Given the description of an element on the screen output the (x, y) to click on. 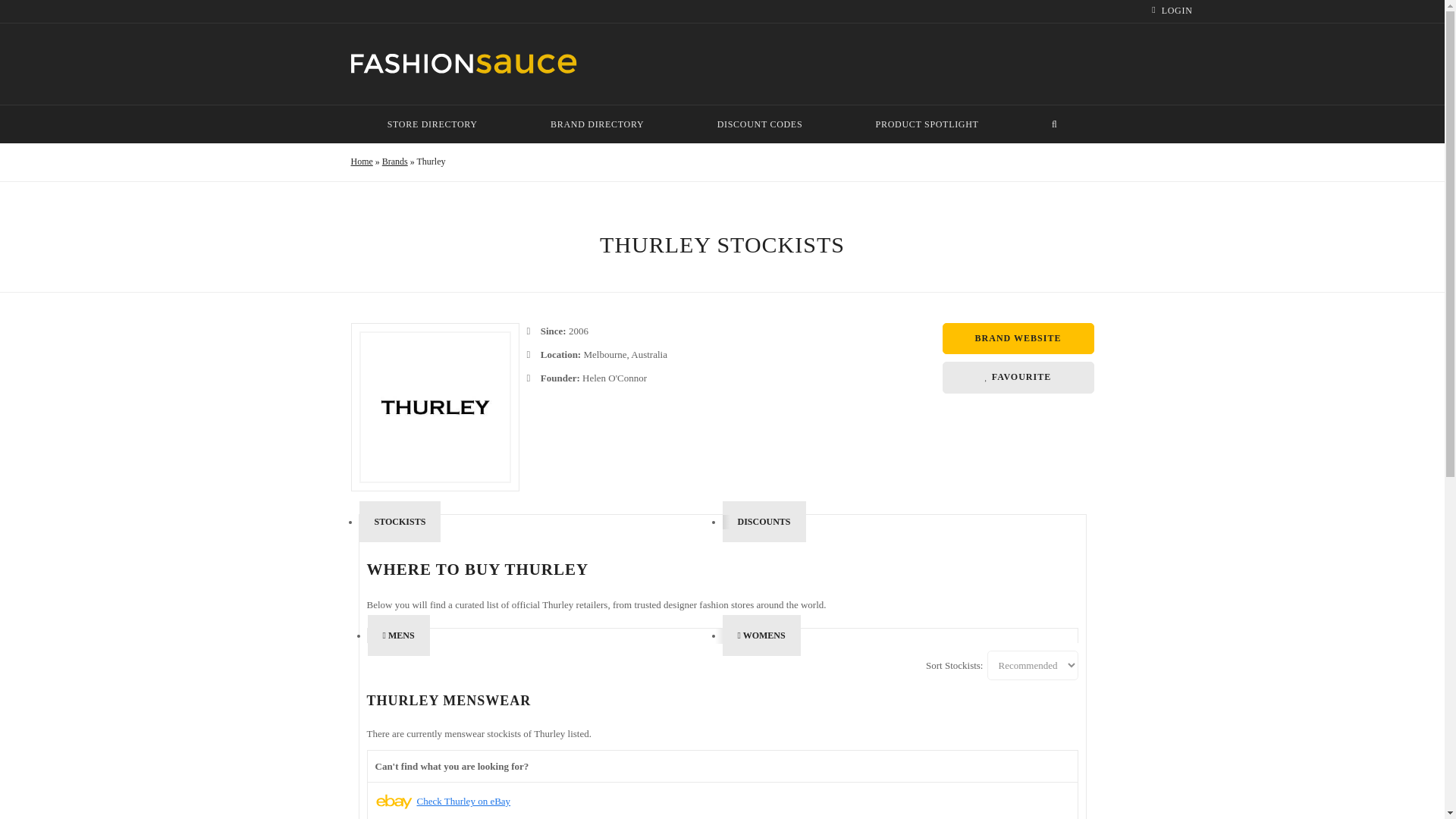
PRODUCT SPOTLIGHT (926, 124)
MENS (397, 635)
DISCOUNT CODES (760, 124)
Home (361, 161)
FAVOURITE (1017, 377)
STOCKISTS (400, 521)
Check Thurley on eBay (721, 800)
WOMENS (760, 635)
LOGIN (1176, 11)
Shop at Thurley (1018, 338)
